Given the description of an element on the screen output the (x, y) to click on. 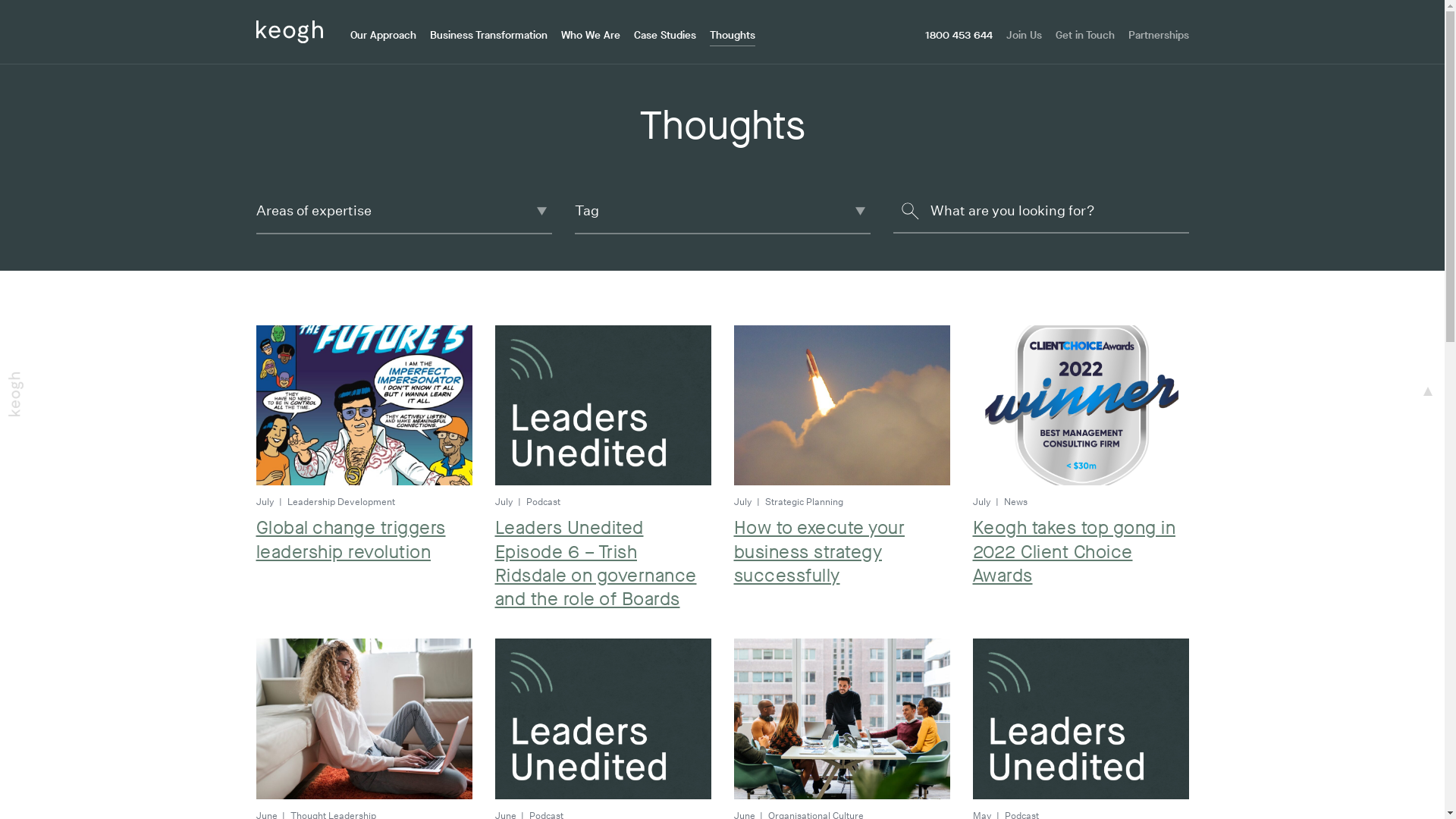
Thoughts Element type: text (732, 35)
Get in Touch Element type: text (1084, 35)
1800 453 644 Element type: text (958, 35)
Keogh_Leaders Unedited Vodcast Cover_v012 Element type: hover (602, 718)
imperfect Element type: hover (364, 405)
Successful launch Element type: hover (842, 405)
Join Us Element type: text (1023, 35)
Keogh_Leaders Unedited Vodcast Cover_v012 Element type: hover (602, 405)
Our Approach Element type: text (383, 35)
Work from home Element type: hover (364, 718)
Case Studies Element type: text (664, 35)
Keogh_Leaders Unedited Vodcast Cover_v012 Element type: hover (1080, 718)
Meeting room Element type: hover (842, 718)
Keogh Consulting Home Element type: hover (289, 30)
Who We Are Element type: text (590, 35)
Partnerships Element type: text (1158, 35)
Business Transformation Element type: text (487, 35)
Scroll to top of page Element type: hover (1427, 390)
